Given the description of an element on the screen output the (x, y) to click on. 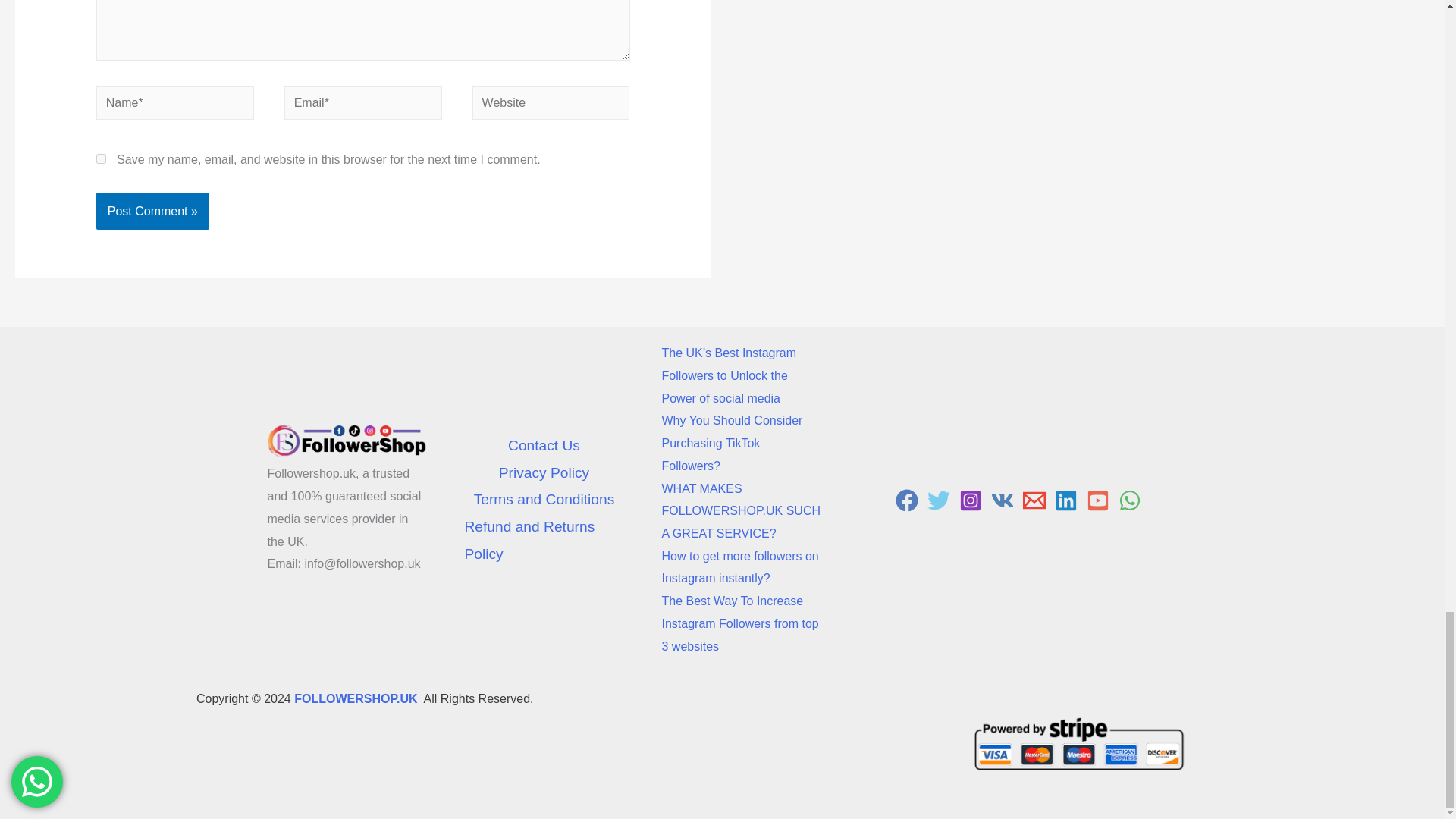
yes (101, 158)
